Given the description of an element on the screen output the (x, y) to click on. 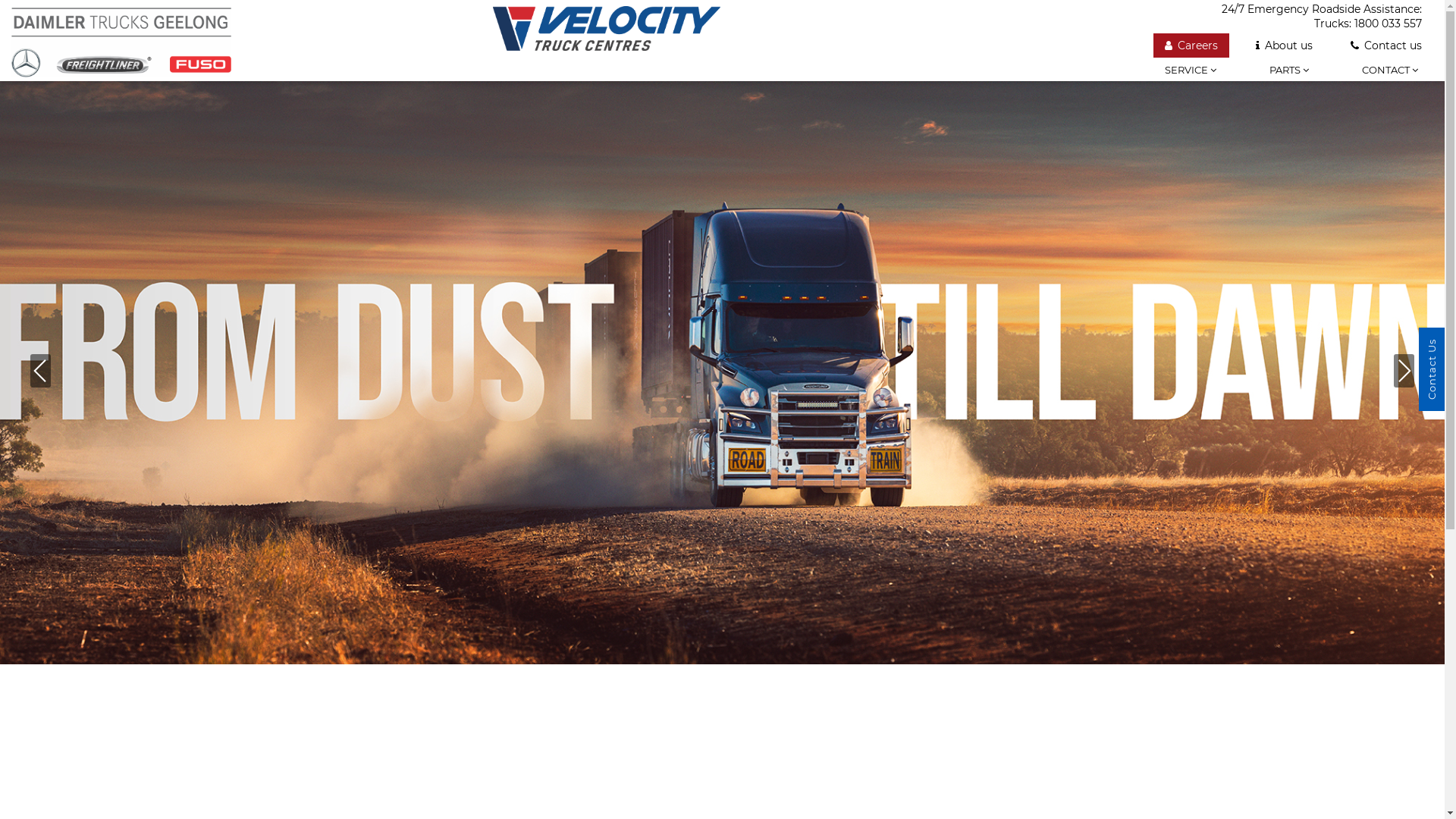
1800 033 557 Element type: text (1387, 23)
Careers Element type: text (1191, 45)
PARTS Element type: text (1288, 80)
Contact us Element type: text (1386, 45)
Contact Us Element type: text (1431, 369)
CONTACT Element type: text (1389, 80)
About us Element type: text (1284, 45)
SERVICE Element type: text (1190, 80)
